Given the description of an element on the screen output the (x, y) to click on. 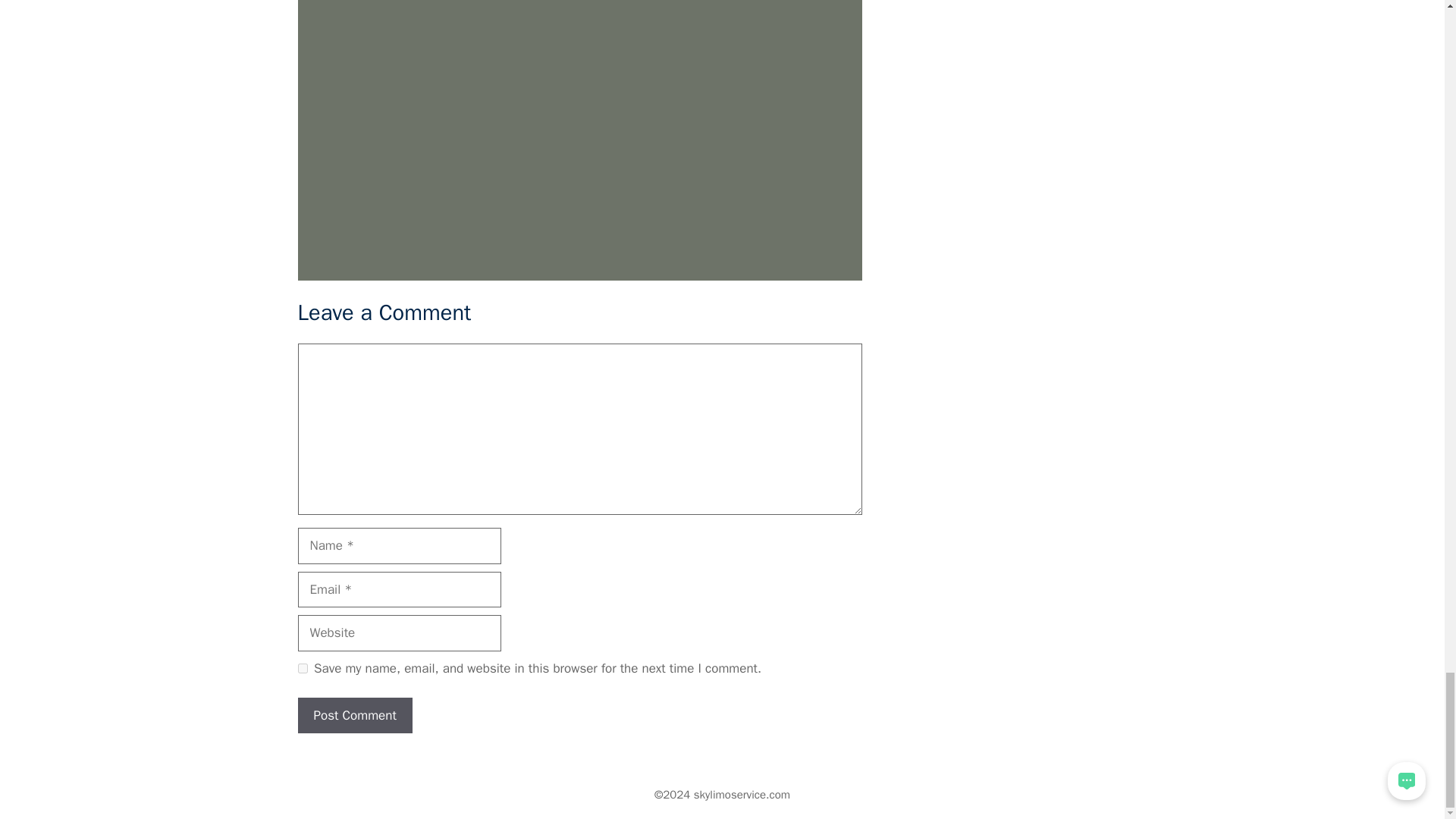
Post Comment (354, 715)
Post Comment (354, 715)
yes (302, 668)
